Given the description of an element on the screen output the (x, y) to click on. 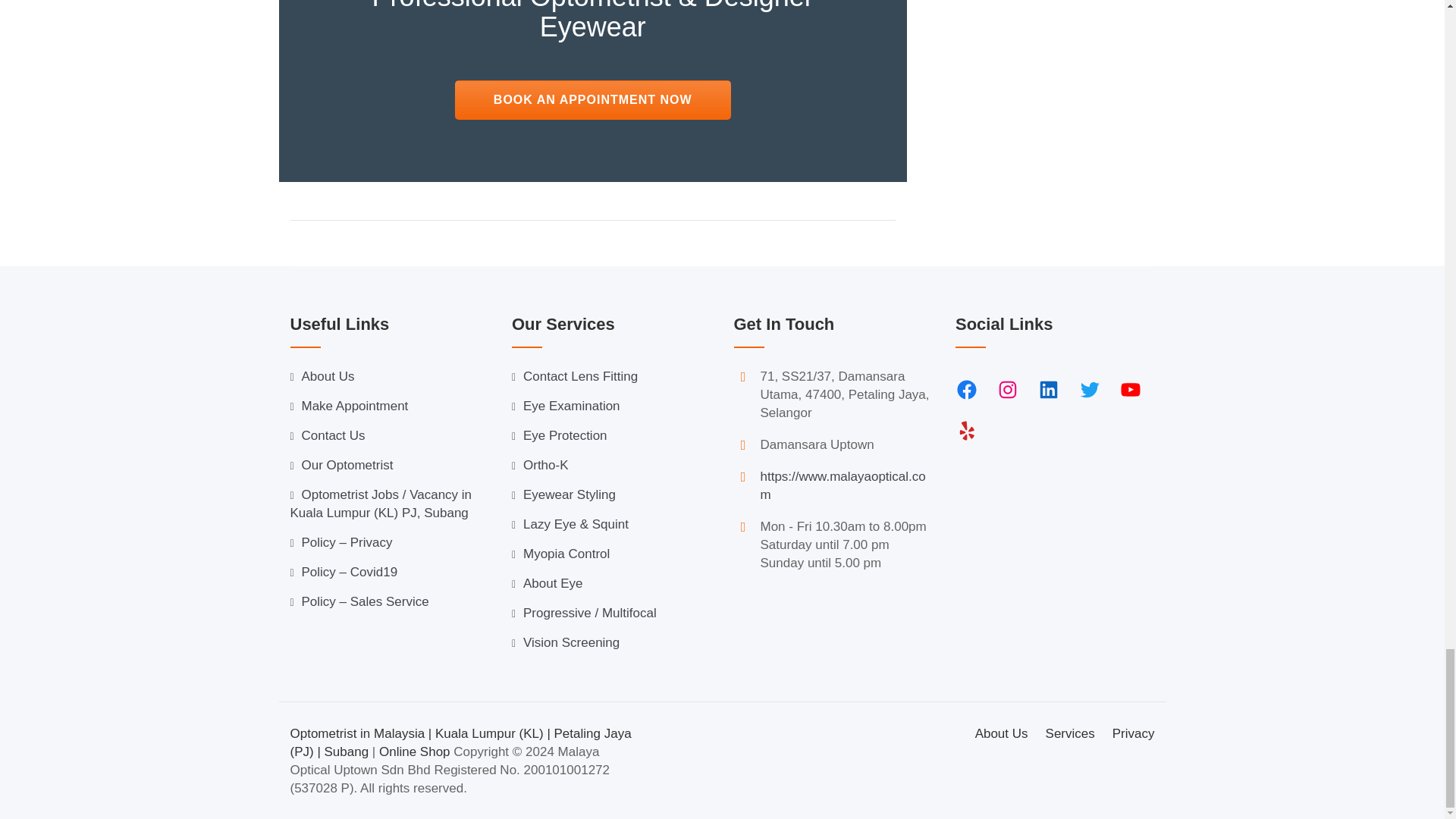
Book an Appointment (592, 99)
